Given the description of an element on the screen output the (x, y) to click on. 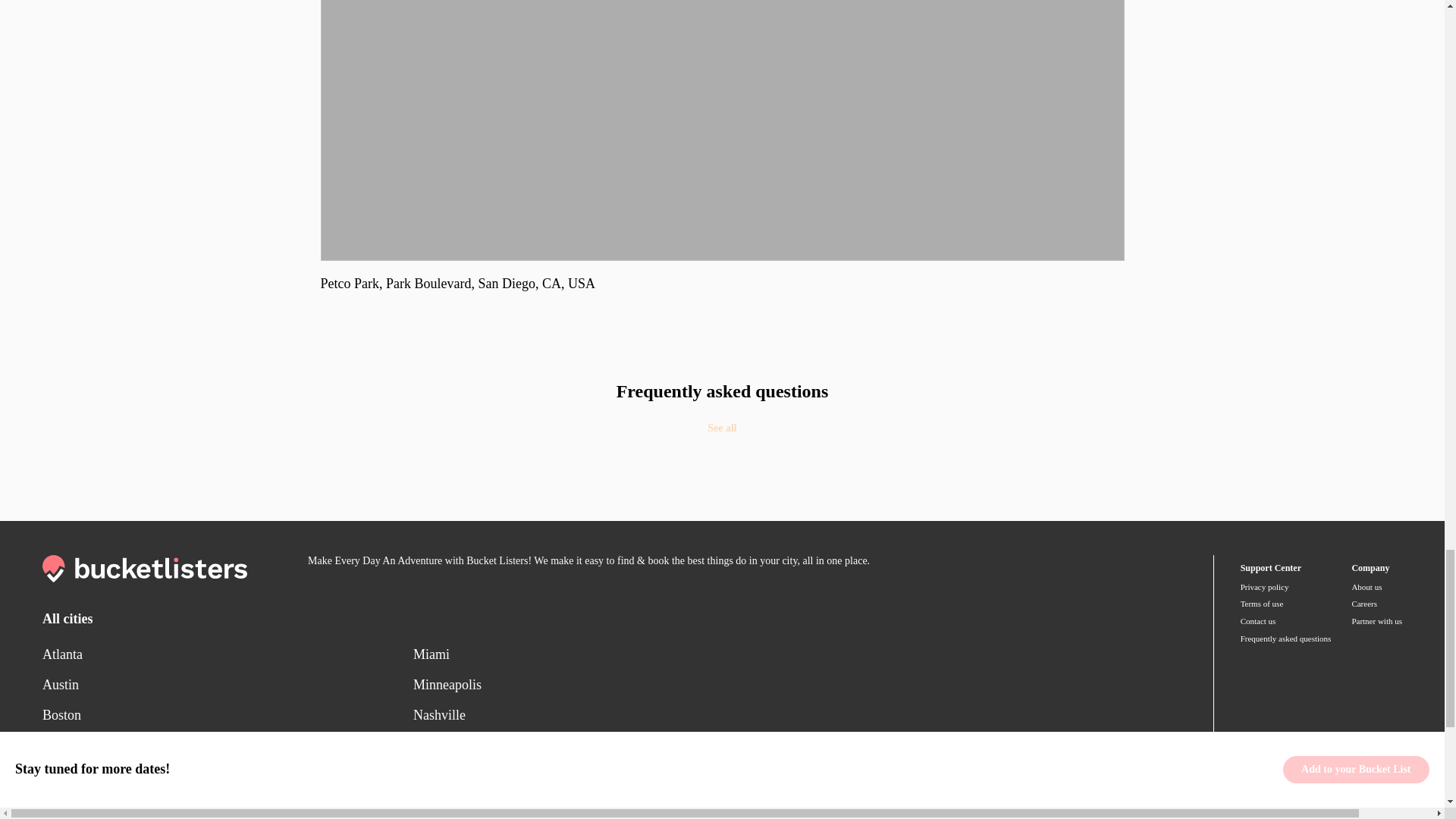
Phoenix (608, 805)
Boston (227, 715)
Austin (227, 684)
Denver (227, 805)
See all (721, 428)
Chicago (227, 745)
Dallas (227, 775)
Nashville (608, 715)
Philadelphia (608, 775)
Privacy policy (1286, 586)
